Given the description of an element on the screen output the (x, y) to click on. 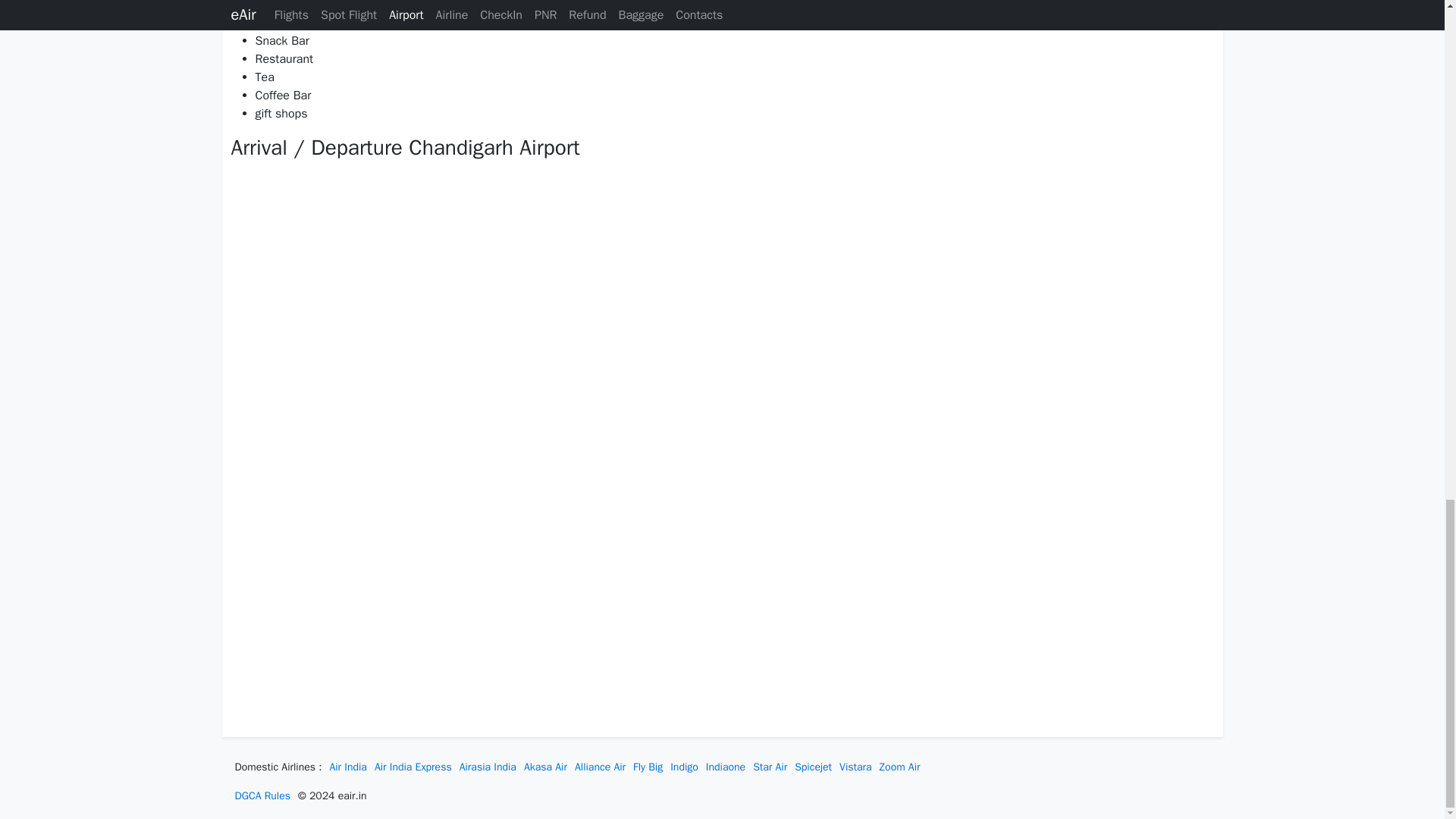
Air India (347, 766)
Akasa Air (545, 766)
Spicejet (812, 766)
Airasia India (488, 766)
Zoom Air (899, 766)
Indigo (683, 766)
Star Air (769, 766)
Indiaone (725, 766)
DGCA Rules (262, 795)
Alliance Air (600, 766)
Fly Big (647, 766)
Air India Express (412, 766)
Vistara (856, 766)
